Given the description of an element on the screen output the (x, y) to click on. 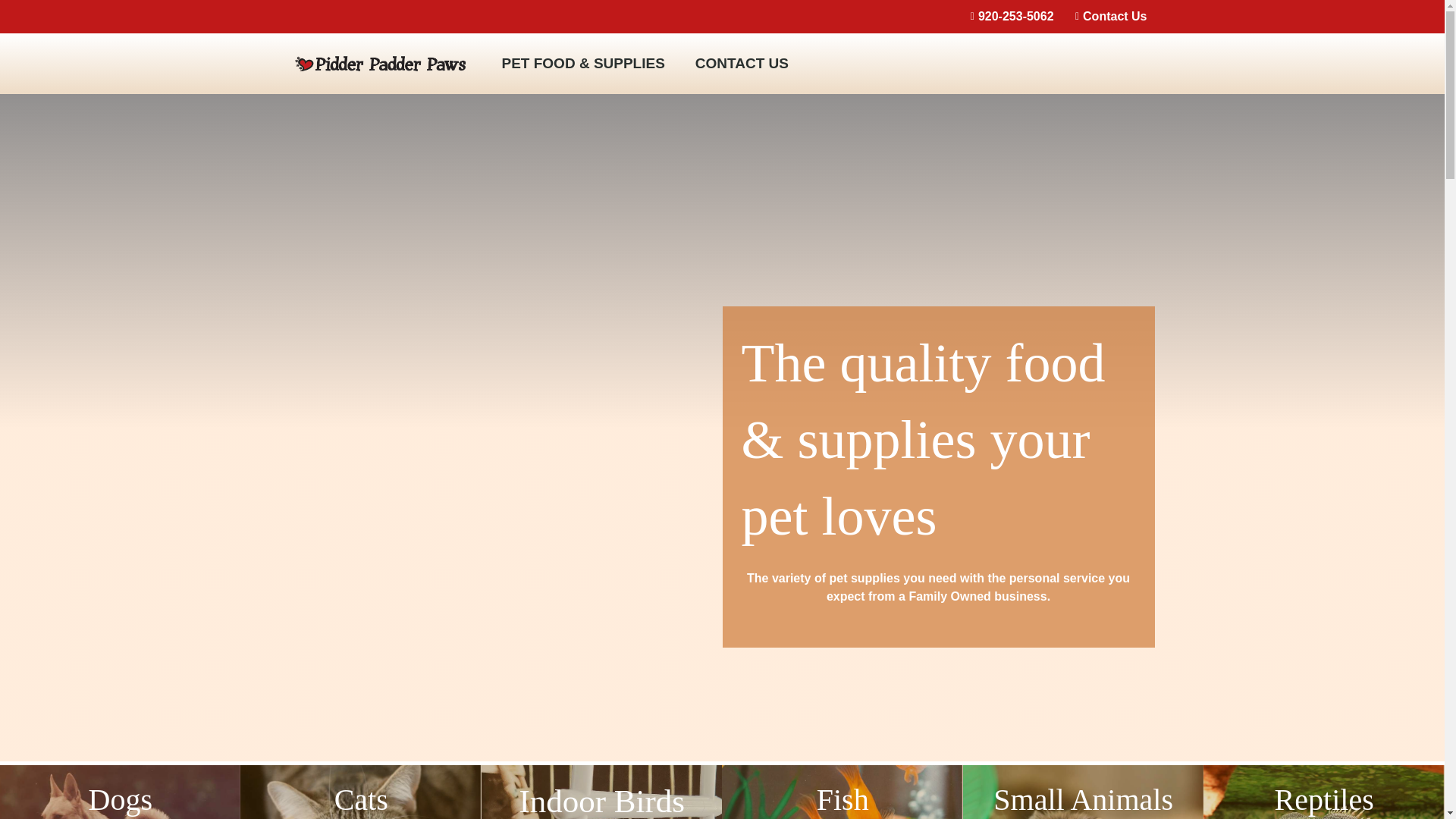
920-253-5062 (1006, 16)
Small Animals (1083, 791)
Reptiles (1324, 791)
Cats (360, 791)
Dogs (120, 791)
CONTACT US (741, 63)
Indoor Birds (601, 791)
Contact Us (1106, 16)
Fish (842, 791)
